Given the description of an element on the screen output the (x, y) to click on. 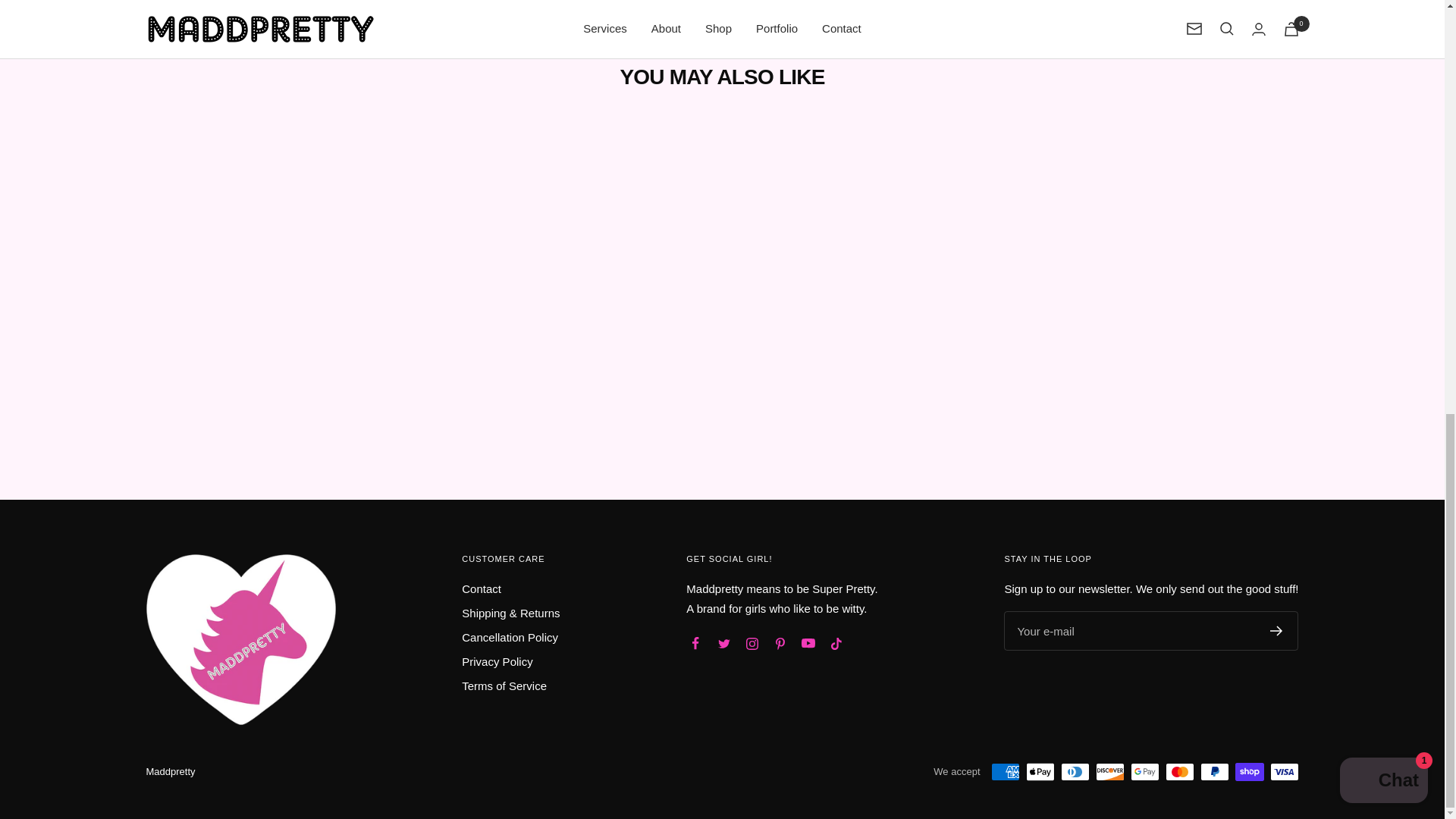
Register (1275, 630)
